Given the description of an element on the screen output the (x, y) to click on. 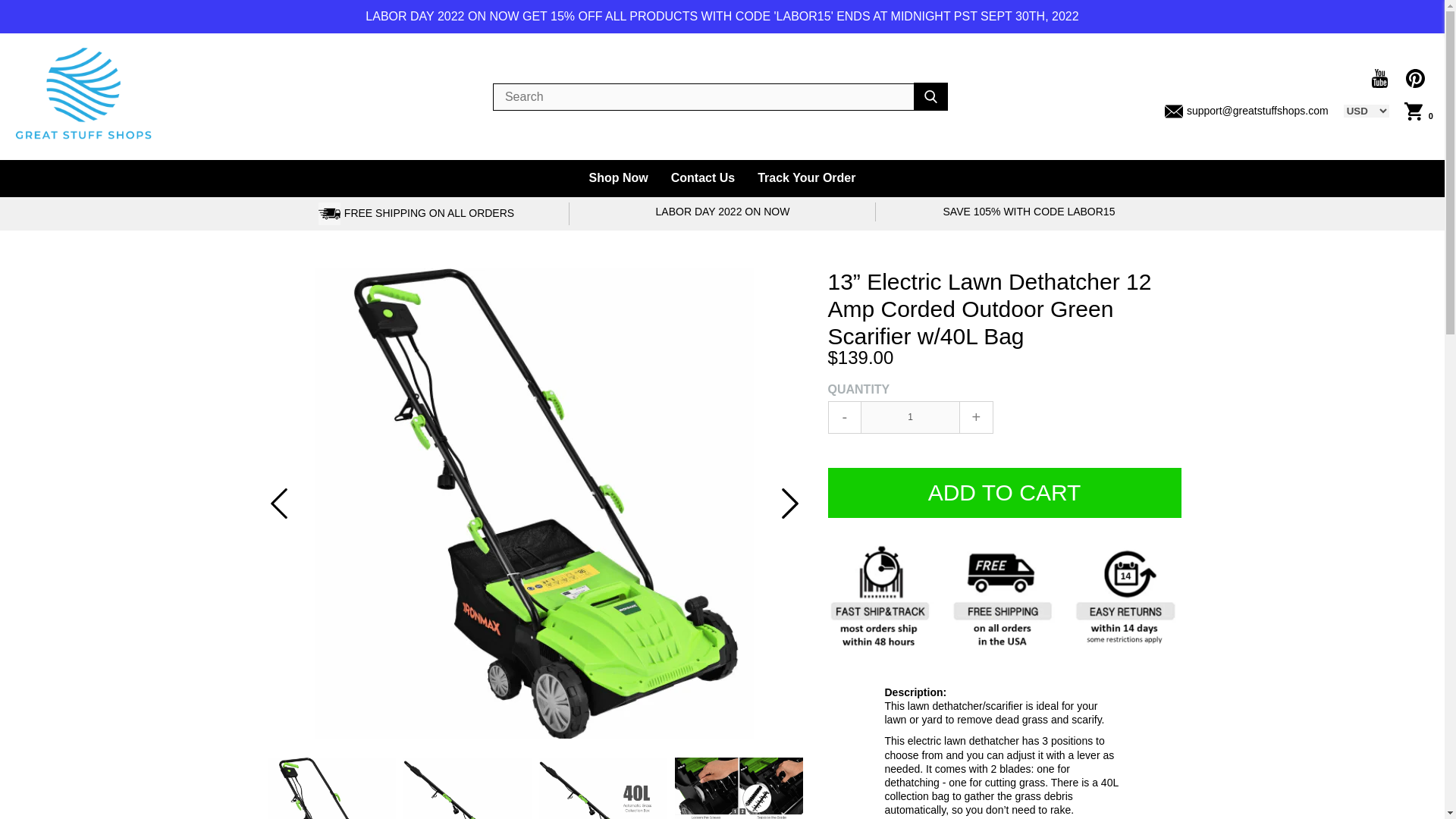
1 (909, 417)
- (844, 417)
ADD TO CART (1004, 492)
Contact Us (702, 178)
Shop Now (618, 178)
0 (1418, 111)
Track Your Order (805, 178)
